Given the description of an element on the screen output the (x, y) to click on. 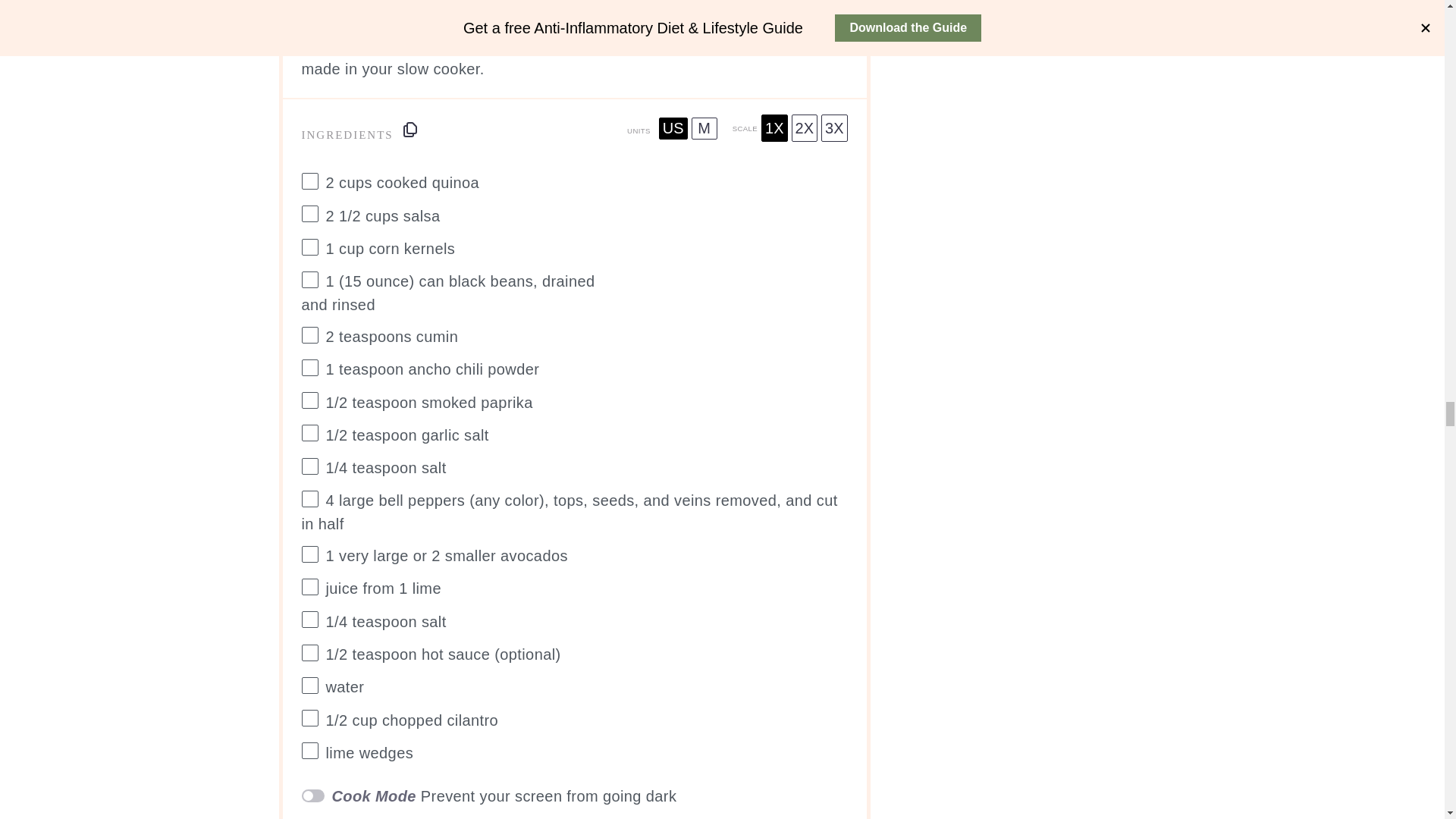
COPY TO CLIPBOARD COPY TO CLIPBOARD (410, 129)
